Given the description of an element on the screen output the (x, y) to click on. 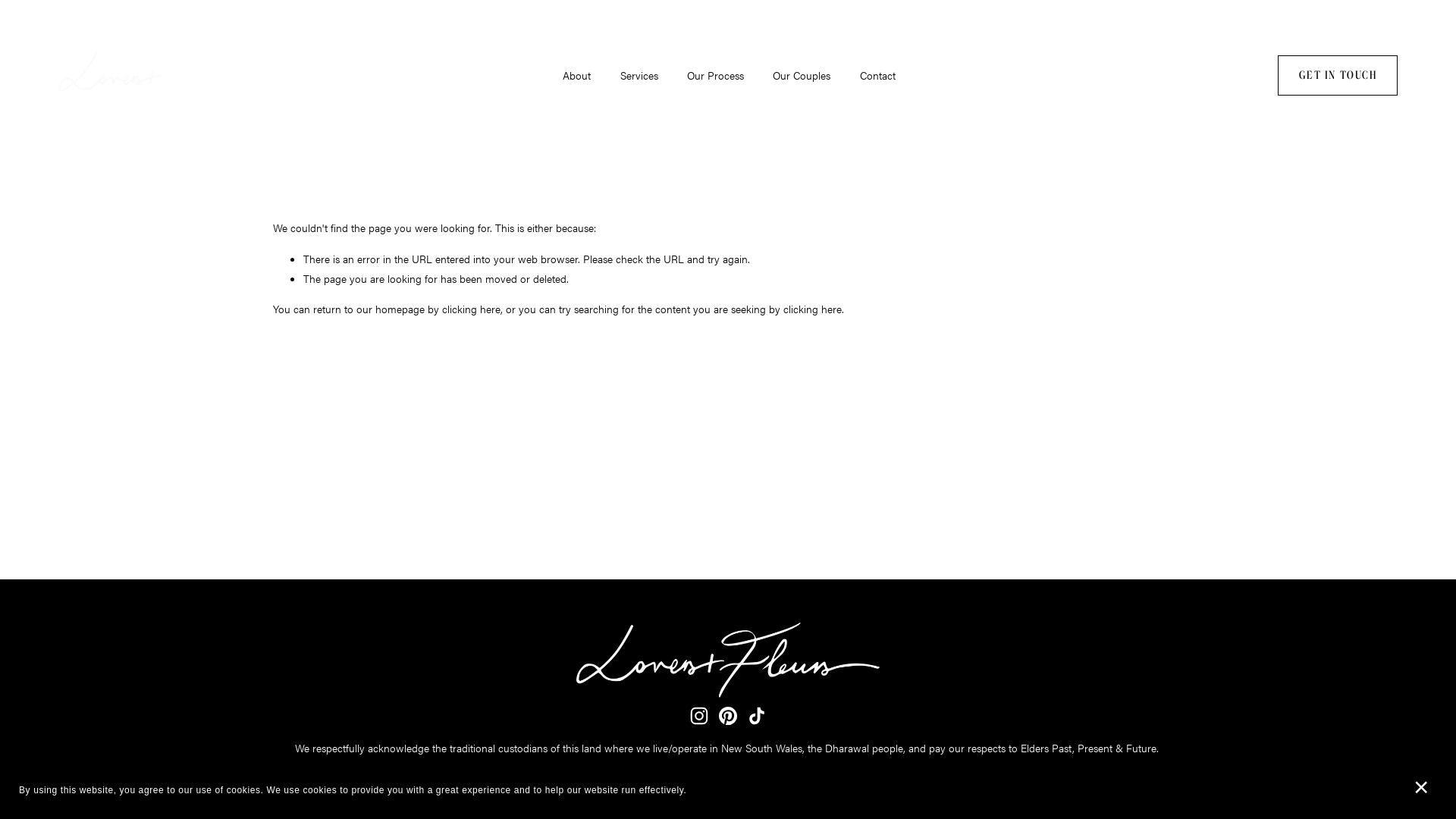
Services Element type: text (639, 75)
Contact Element type: text (877, 75)
Our Couples Element type: text (801, 75)
clicking here Element type: text (471, 308)
Our Process Element type: text (715, 75)
About Element type: text (576, 75)
GET IN TOUCH Element type: text (1337, 75)
clicking here Element type: text (812, 308)
